Given the description of an element on the screen output the (x, y) to click on. 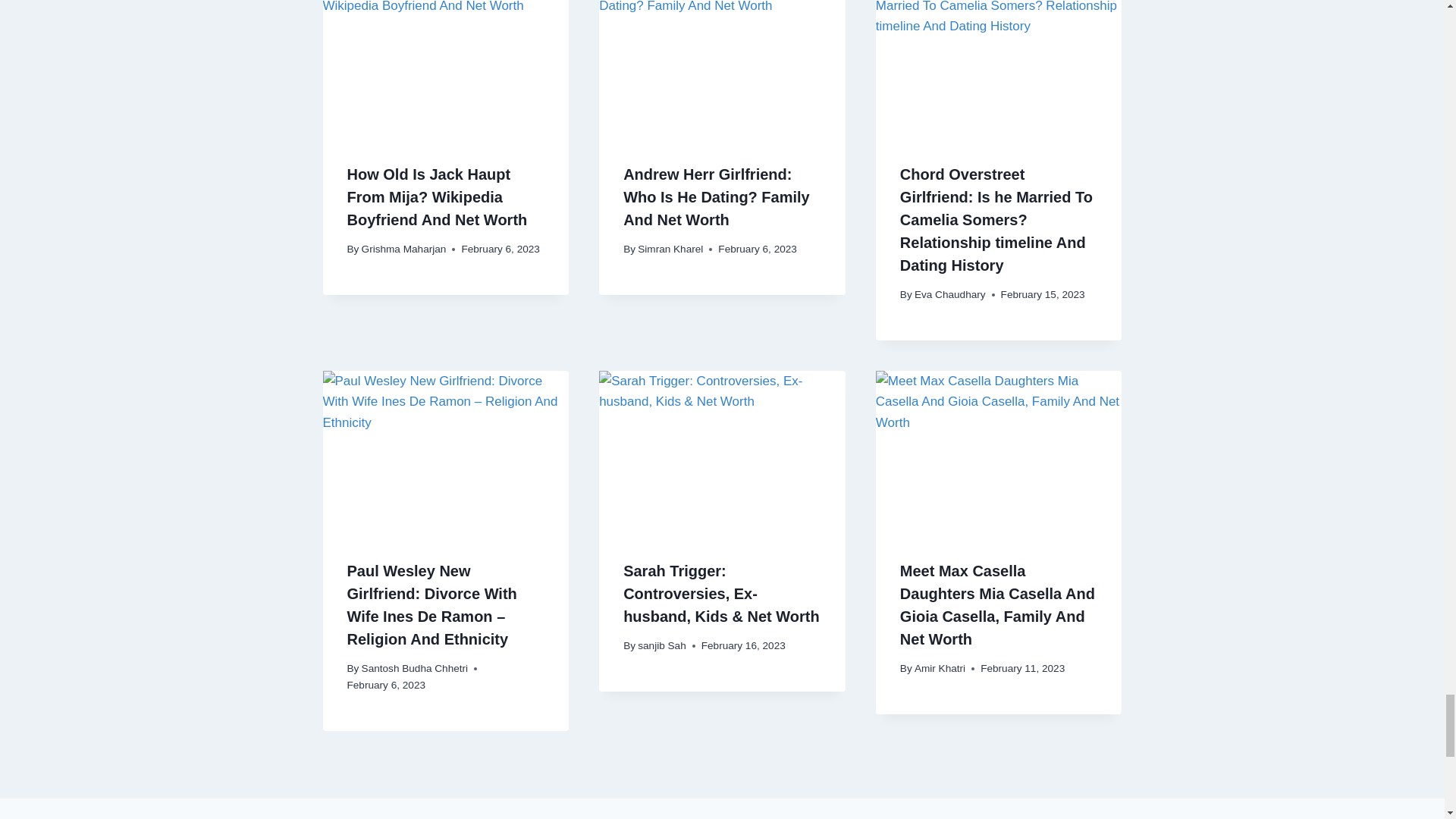
Grishma Maharjan (403, 248)
Simran Kharel (670, 248)
